Given the description of an element on the screen output the (x, y) to click on. 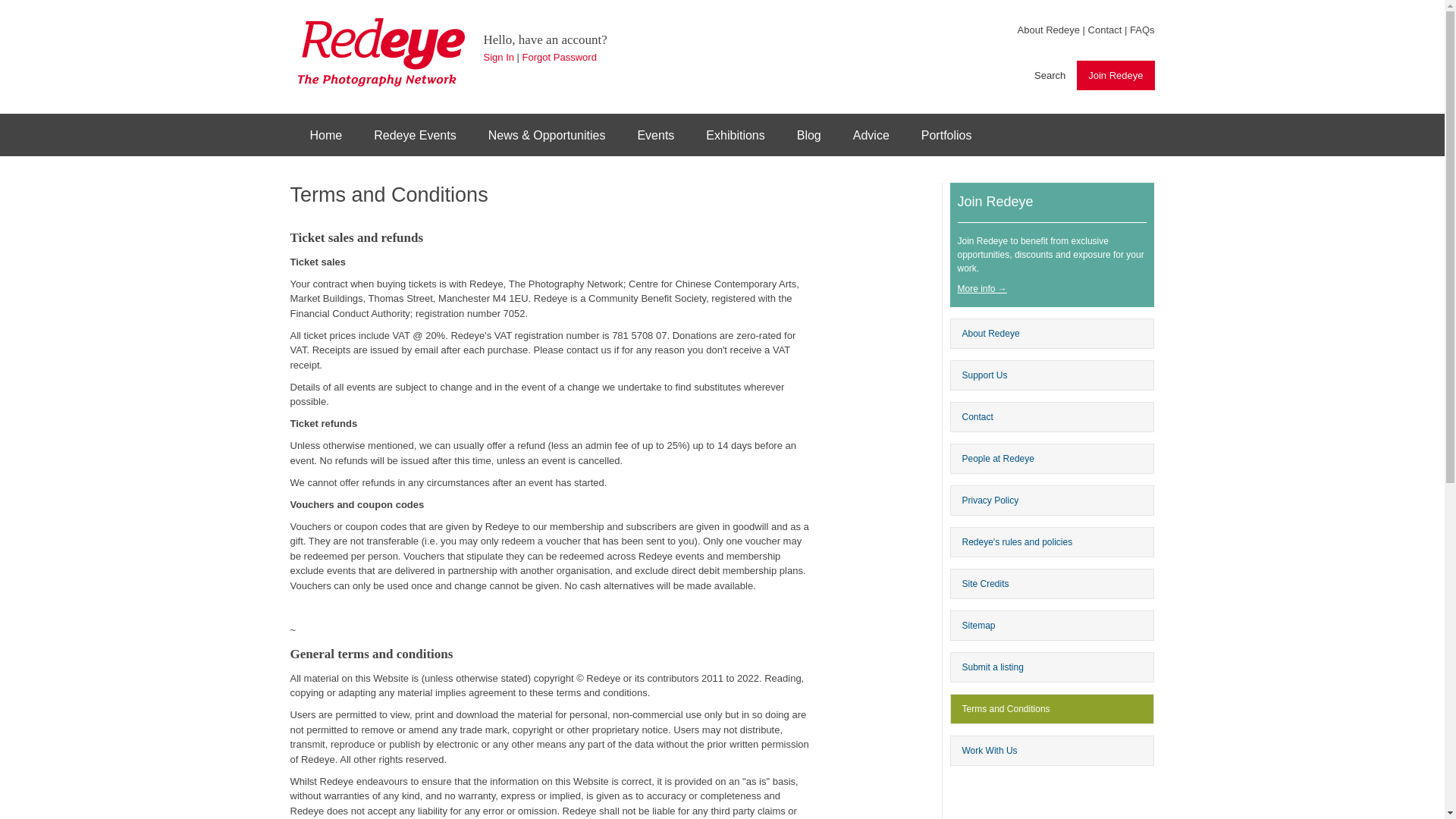
Redeye Events (414, 134)
Forgot Password (559, 57)
Home (380, 52)
Exhibitions (325, 134)
Contact (734, 134)
Blog (1051, 416)
Join Redeye (808, 134)
Sign In (1115, 75)
Support Us (498, 57)
Advice (1051, 375)
Search (871, 134)
Events (1050, 75)
Home (655, 134)
